Given the description of an element on the screen output the (x, y) to click on. 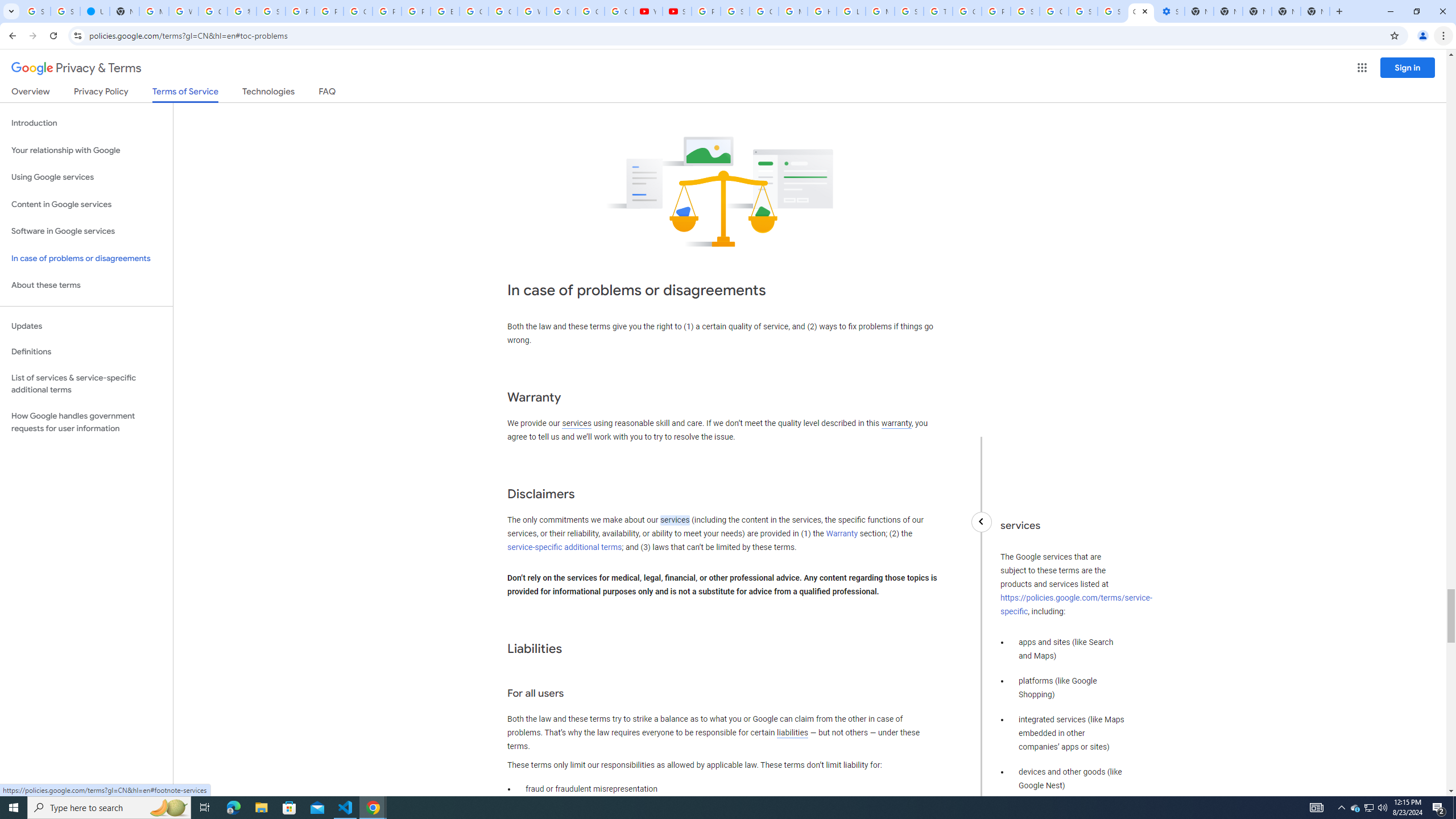
Create your Google Account (212, 11)
In case of problems or disagreements (86, 258)
Settings - Performance (1169, 11)
Google Account (590, 11)
New Tab (1315, 11)
Sign in - Google Accounts (65, 11)
YouTube (648, 11)
Technologies (268, 93)
Updates (86, 325)
